Given the description of an element on the screen output the (x, y) to click on. 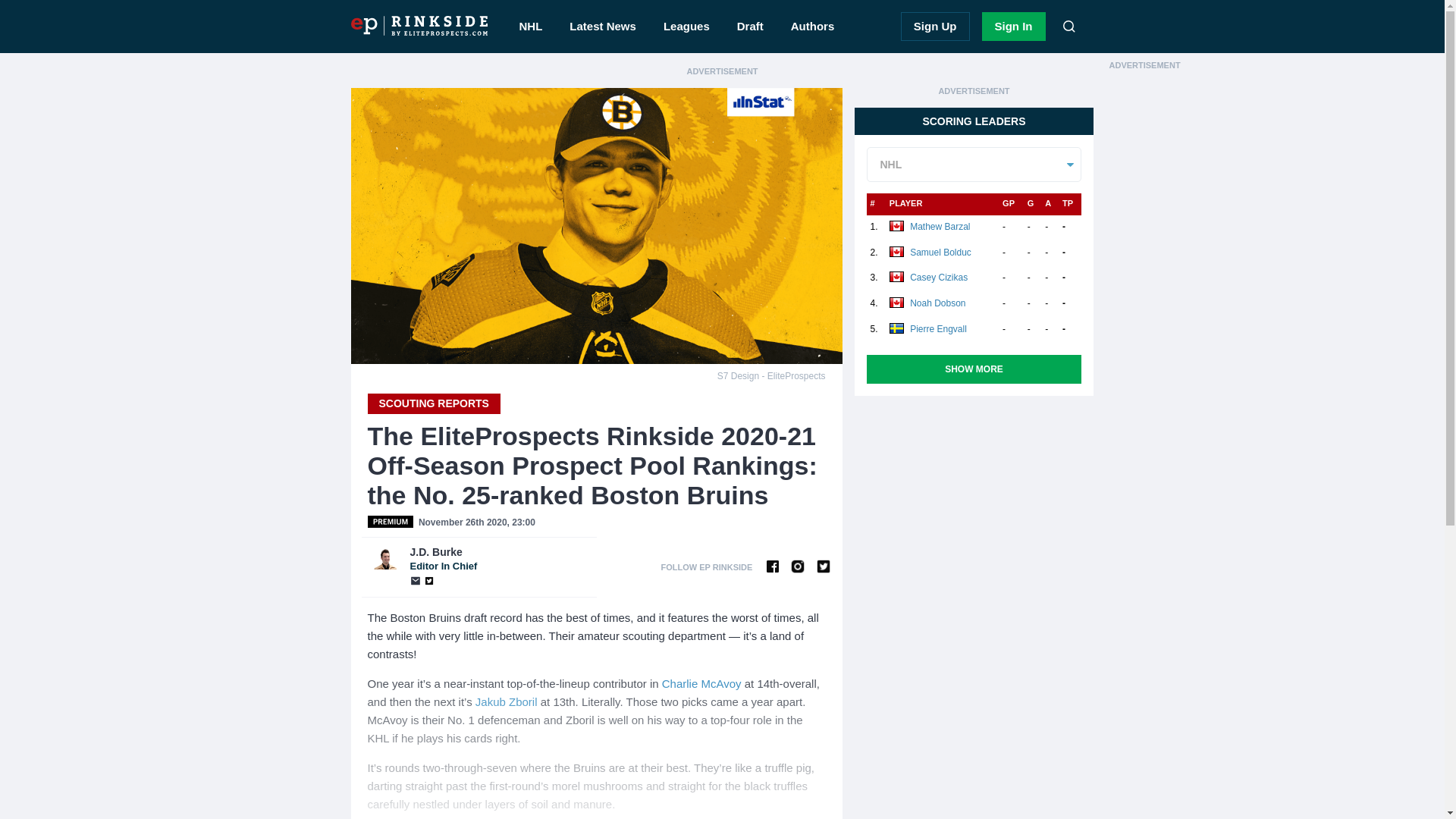
Latest News (602, 26)
Authors (812, 26)
NHL (530, 26)
Jakub Zboril (499, 559)
eprinkside.com (506, 701)
SCOUTING REPORTS (418, 26)
Sign In (432, 403)
Charlie McAvoy (1013, 26)
Draft (701, 683)
